Given the description of an element on the screen output the (x, y) to click on. 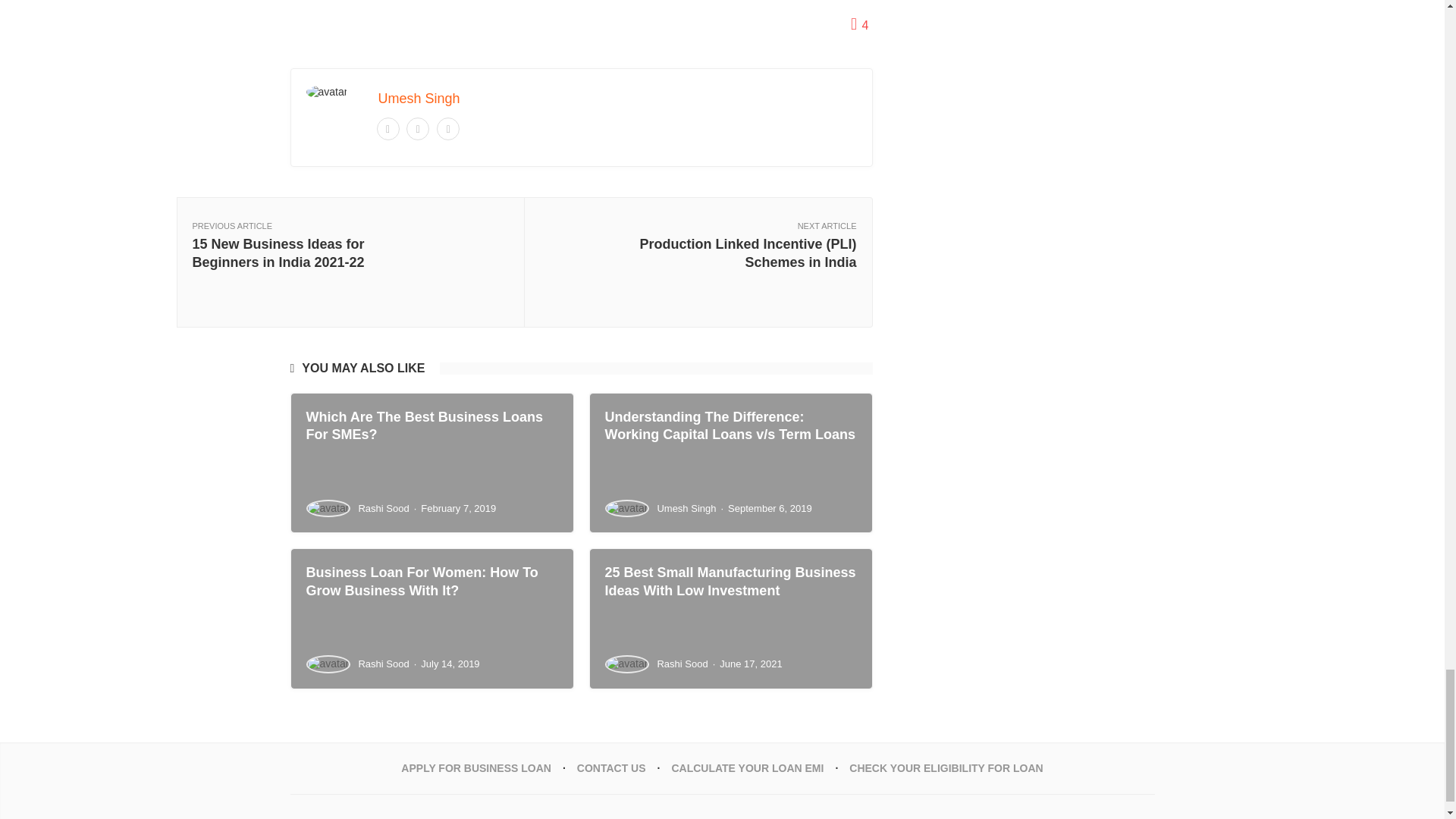
BACK TO TOP  (1120, 818)
